Given the description of an element on the screen output the (x, y) to click on. 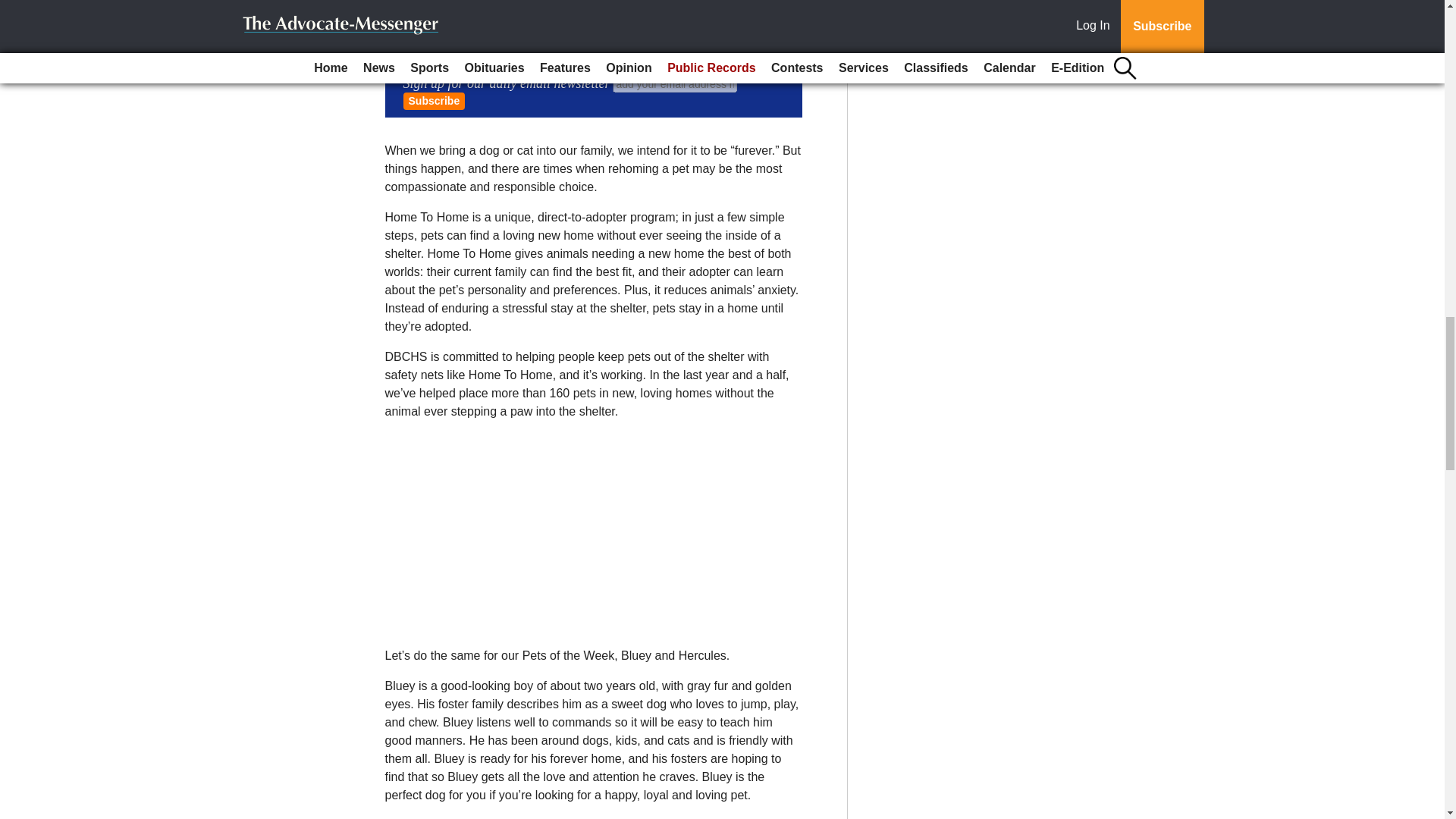
Subscribe (434, 100)
Subscribe (434, 100)
